Given the description of an element on the screen output the (x, y) to click on. 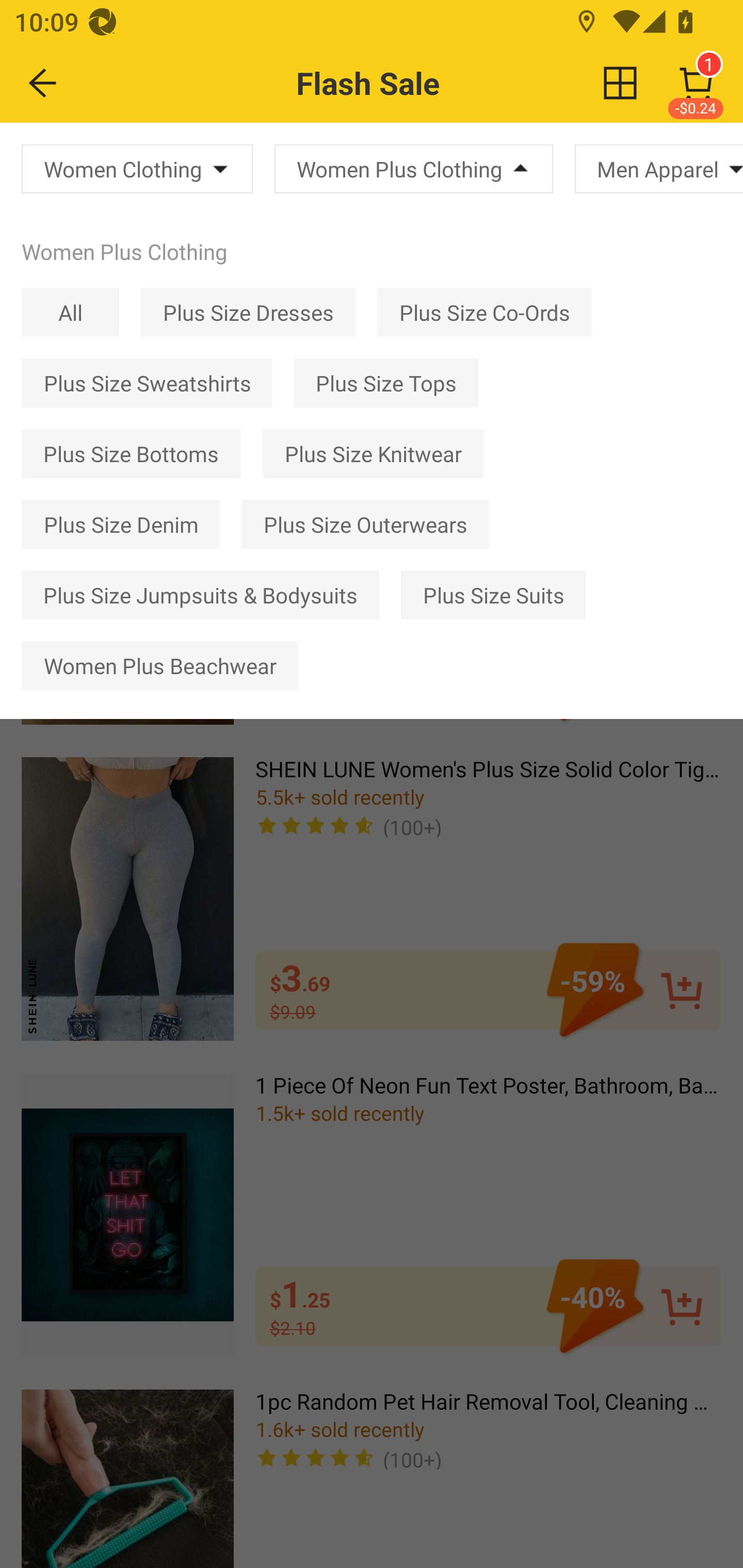
Flash Sale change view 1 -$0.24 (414, 82)
1 -$0.24 (695, 82)
change view (620, 82)
BACK (43, 83)
Women Clothing (136, 168)
Women Plus Clothing (413, 168)
Men Apparel (659, 168)
